Given the description of an element on the screen output the (x, y) to click on. 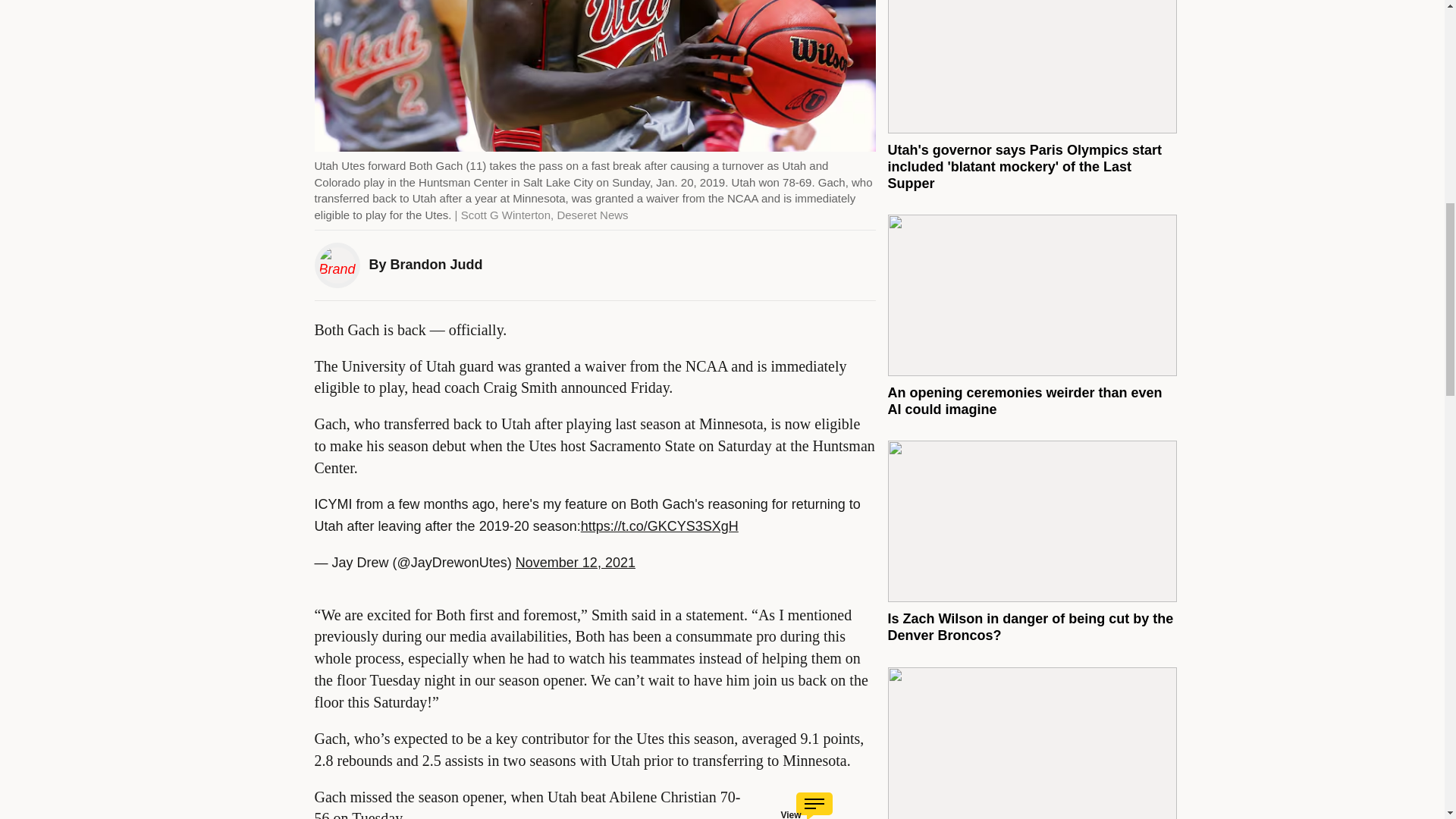
Is Zach Wilson in danger of being cut by the Denver Broncos? (1029, 626)
November 12, 2021 (574, 562)
Brandon Judd (436, 264)
An opening ceremonies weirder than even AI could imagine (1023, 400)
